Given the description of an element on the screen output the (x, y) to click on. 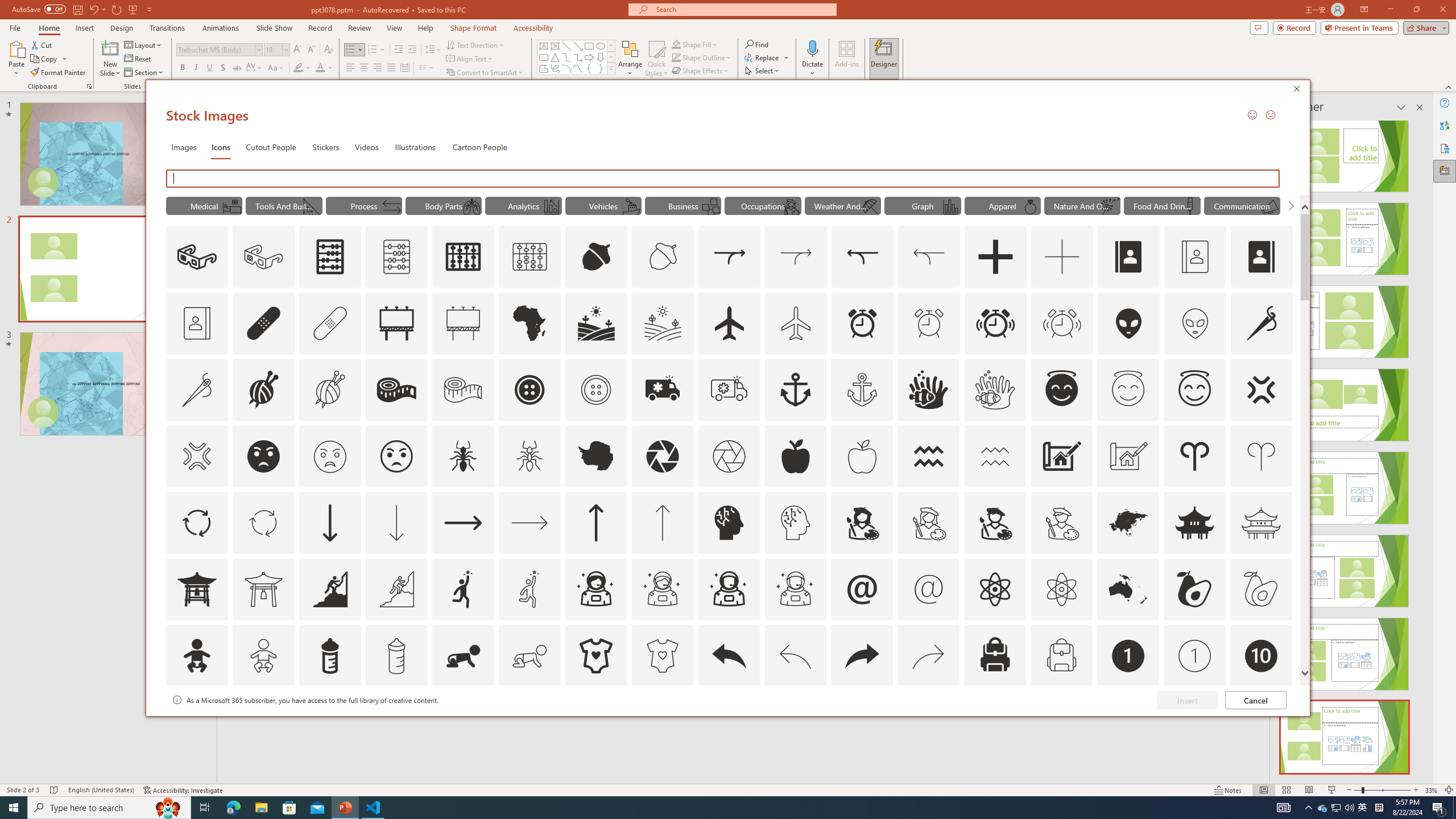
"Communication" Icons. (1241, 205)
AutomationID: Icons_BarGraphUpwardTrend_RTL_M (551, 206)
AutomationID: Icons_Abacus1 (462, 256)
AutomationID: Icons_AngryFace (263, 455)
AutomationID: Icons_Ring_M (1030, 206)
AutomationID: Icons_AlarmRinging_M (1062, 323)
AutomationID: Icons_AdhesiveBandage (263, 323)
